Given the description of an element on the screen output the (x, y) to click on. 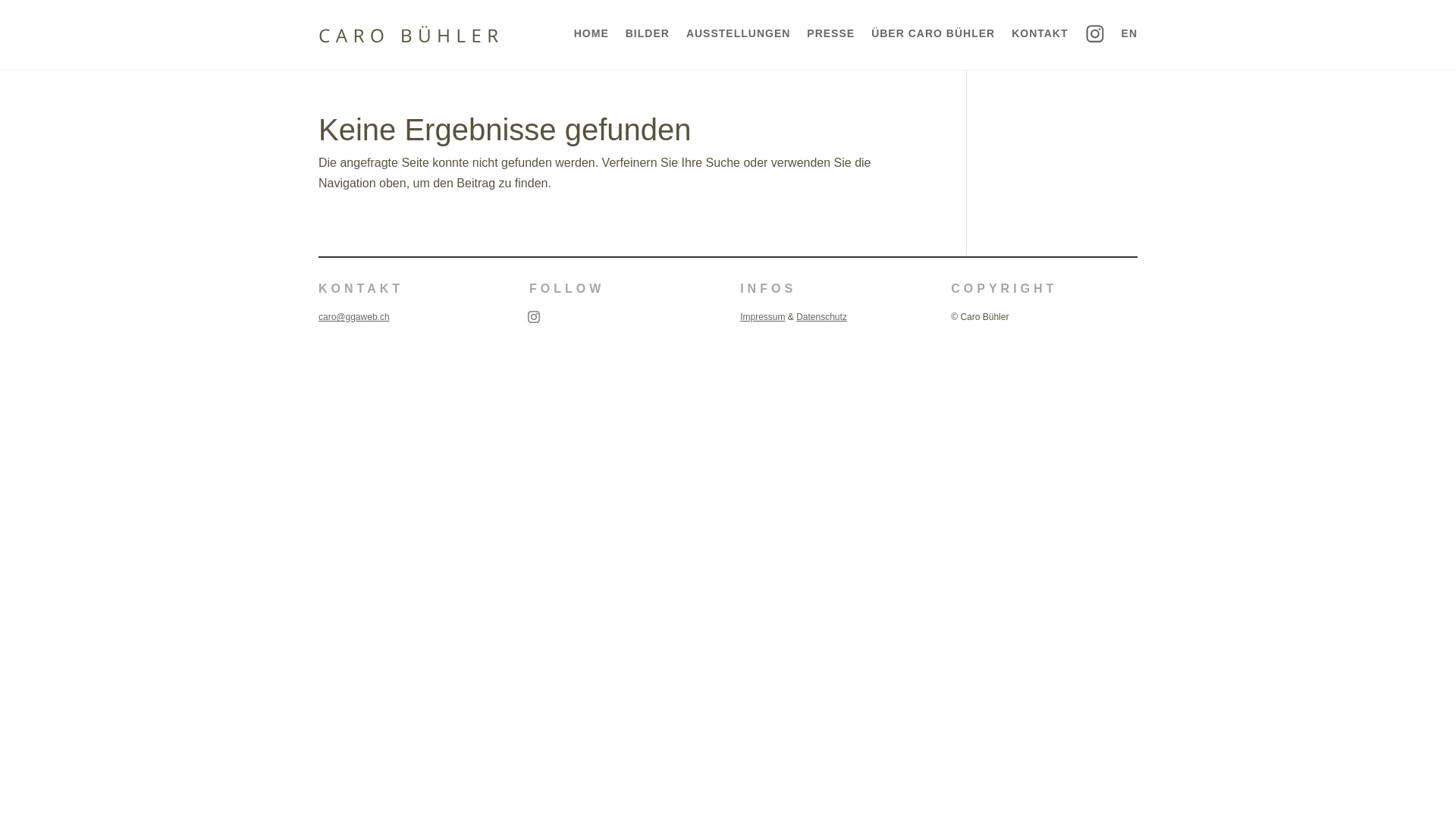
EN Element type: text (1129, 33)
AUSSTELLUNGEN Element type: text (738, 33)
BILDER Element type: text (647, 33)
PRESSE Element type: text (830, 33)
Impressum Element type: text (762, 316)
HOME Element type: text (591, 33)
KONTAKT Element type: text (1039, 33)
caro@ggaweb.ch Element type: text (353, 316)
Folge auf Instagram Element type: hover (533, 316)
Datenschutz Element type: text (821, 316)
